Given the description of an element on the screen output the (x, y) to click on. 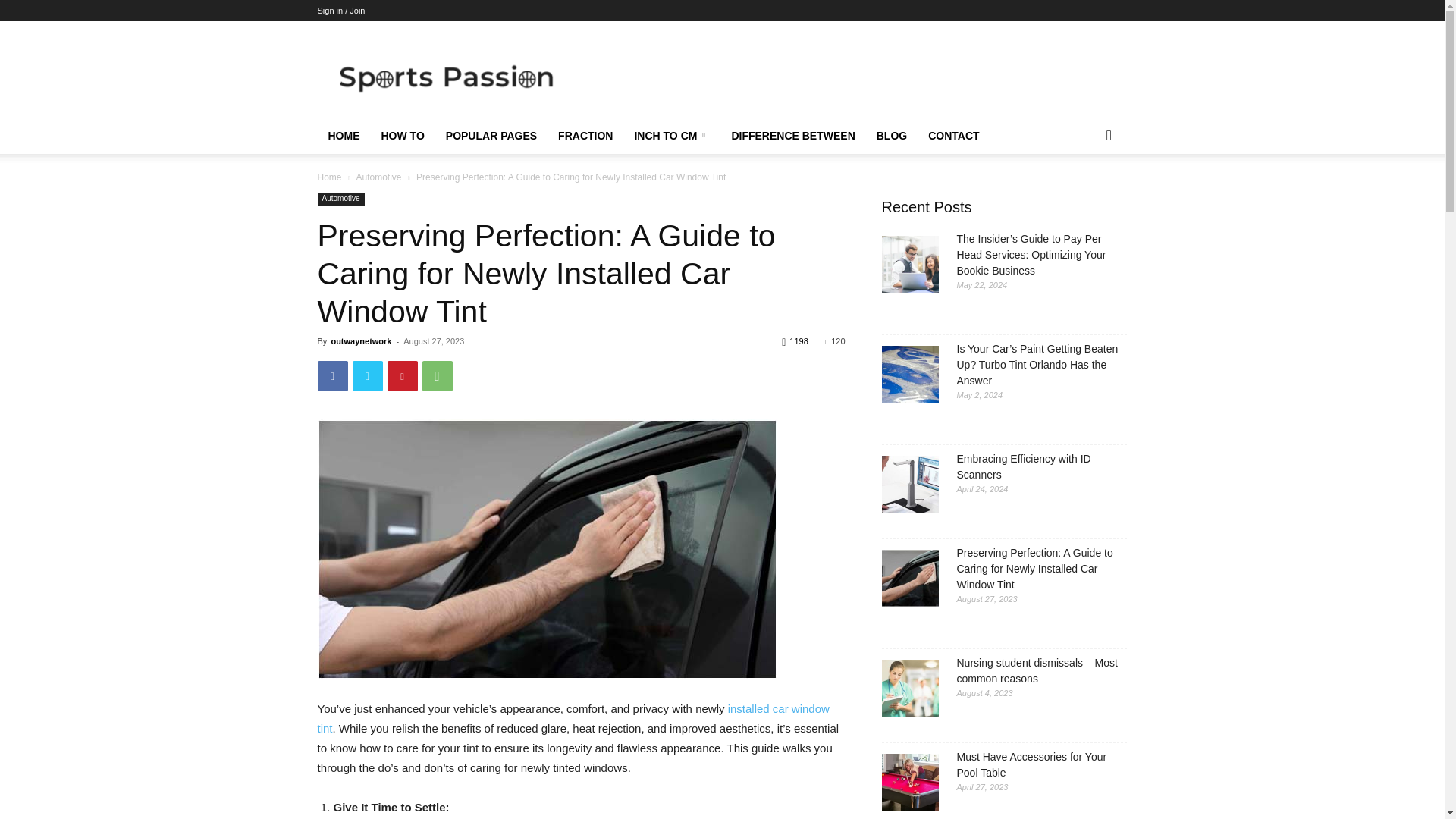
Facebook (332, 376)
HOME (343, 135)
Automotive (378, 176)
120 (835, 340)
DIFFERENCE BETWEEN (792, 135)
View all posts in Automotive (378, 176)
Automotive (340, 198)
POPULAR PAGES (491, 135)
FRACTION (585, 135)
sports-passion (445, 76)
Twitter (366, 376)
BLOG (891, 135)
WhatsApp (436, 376)
INCH TO CM (671, 135)
Pinterest (401, 376)
